Given the description of an element on the screen output the (x, y) to click on. 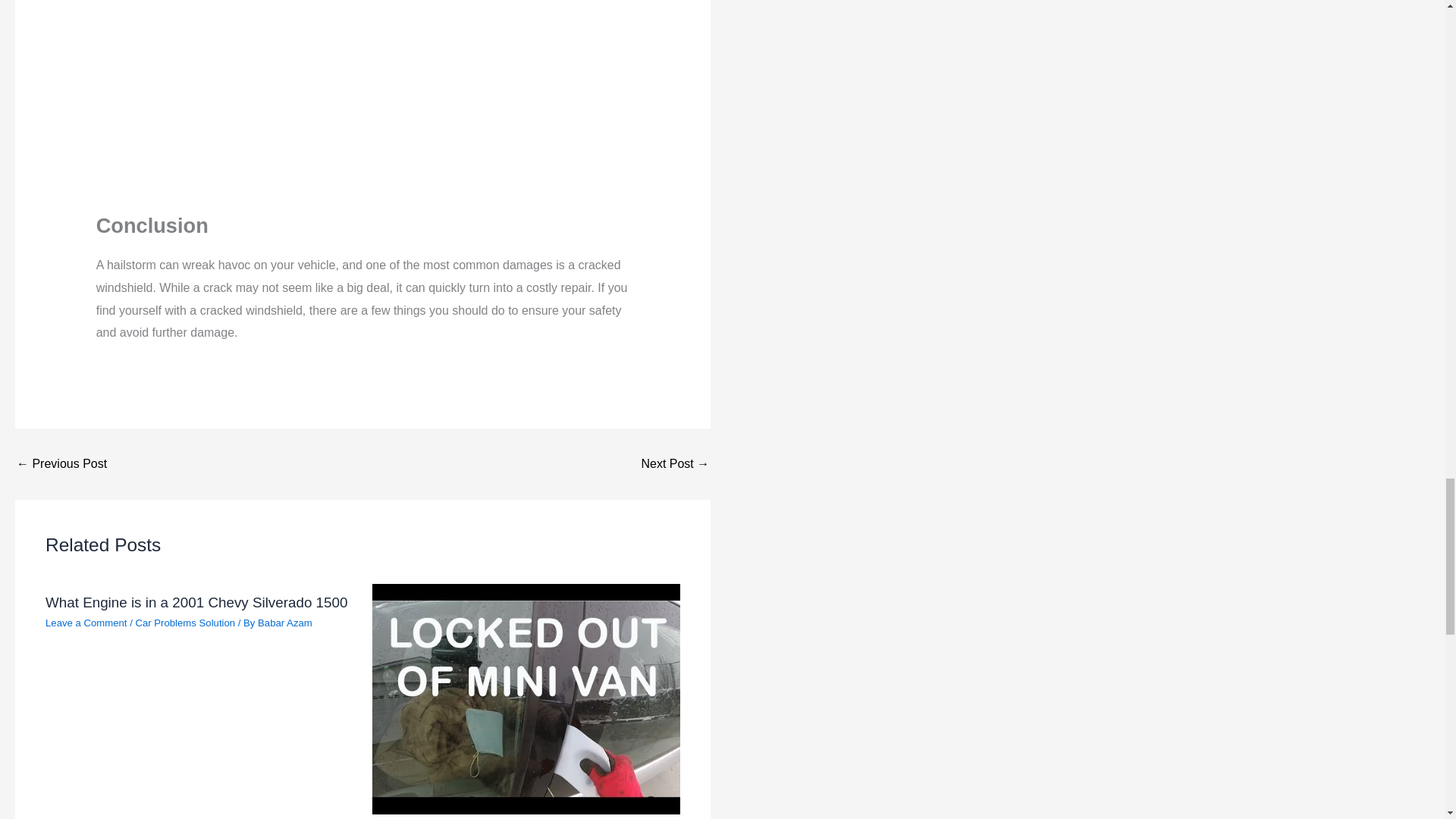
Leave a Comment (86, 622)
View all posts by Babar Azam (285, 622)
Car Problems Solution (184, 622)
Windshield cracking from hail ! (363, 99)
Babar Azam (285, 622)
Can Heat Break Car Windows (674, 463)
What Engine is in a 2001 Chevy Silverado 1500 (196, 602)
Can Fireworks Explode in a Hot Car (61, 463)
